Given the description of an element on the screen output the (x, y) to click on. 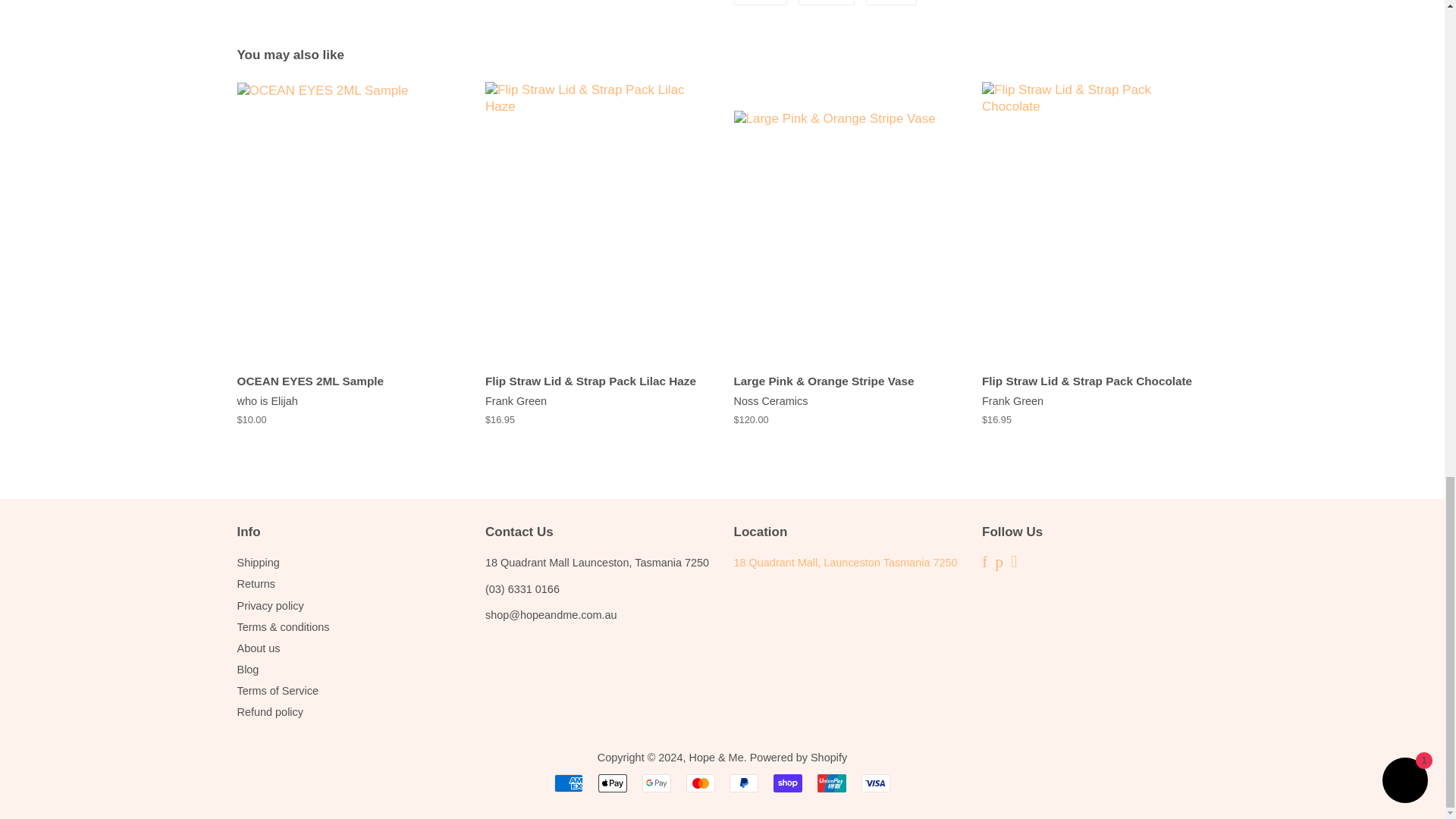
Pin on Pinterest (891, 2)
Union Pay (830, 782)
Visa (875, 782)
Shop Pay (787, 782)
Mastercard (699, 782)
Google Pay (656, 782)
Share on Facebook (760, 2)
Apple Pay (612, 782)
Tweet on Twitter (825, 2)
PayPal (743, 782)
American Express (568, 782)
